Given the description of an element on the screen output the (x, y) to click on. 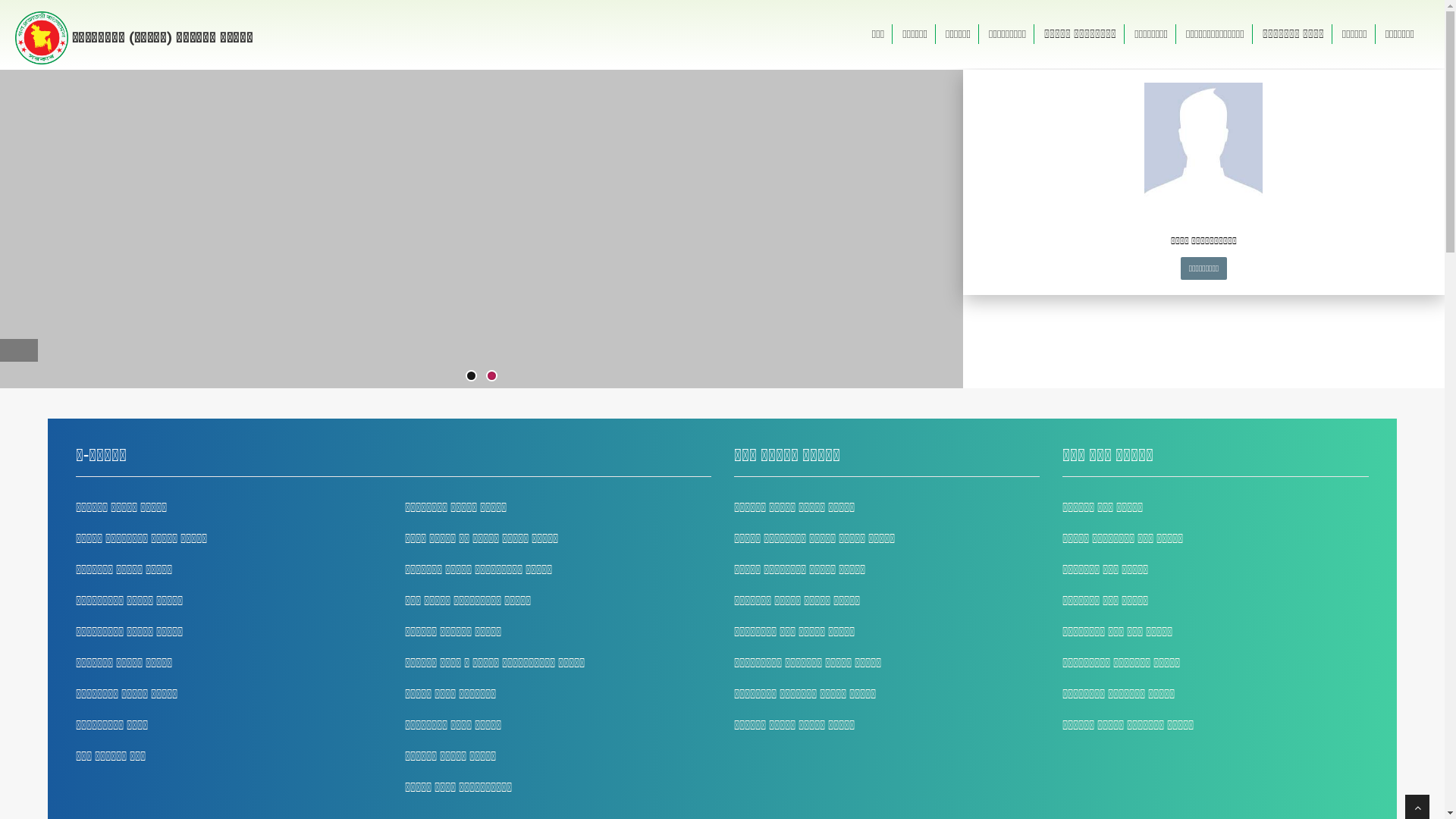
1 Element type: text (471, 375)
2 Element type: text (491, 375)
